Given the description of an element on the screen output the (x, y) to click on. 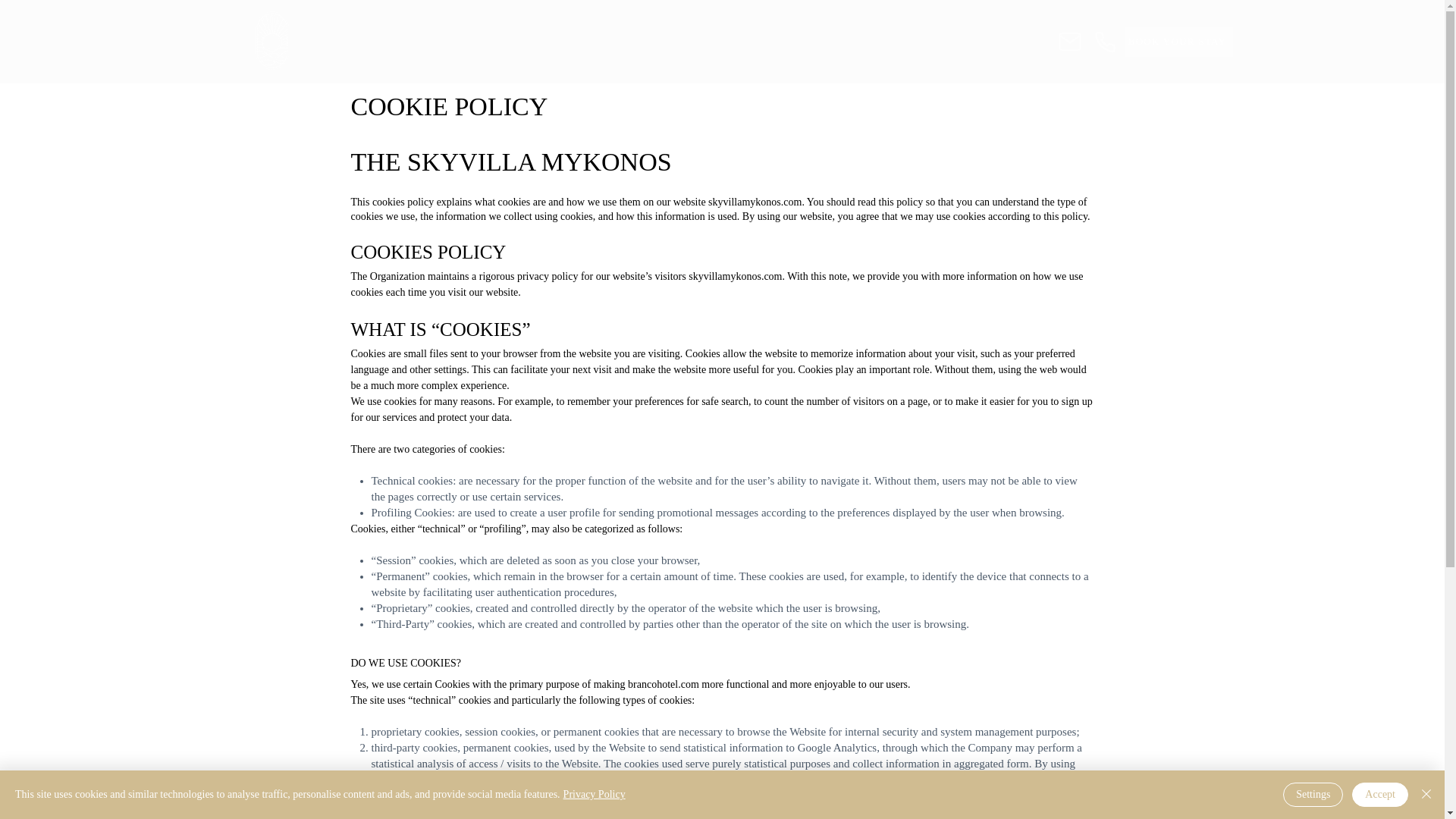
Privacy Policy (594, 794)
Settings (1312, 794)
Accept (1379, 794)
BOOK YOUR STAY (1179, 41)
